Given the description of an element on the screen output the (x, y) to click on. 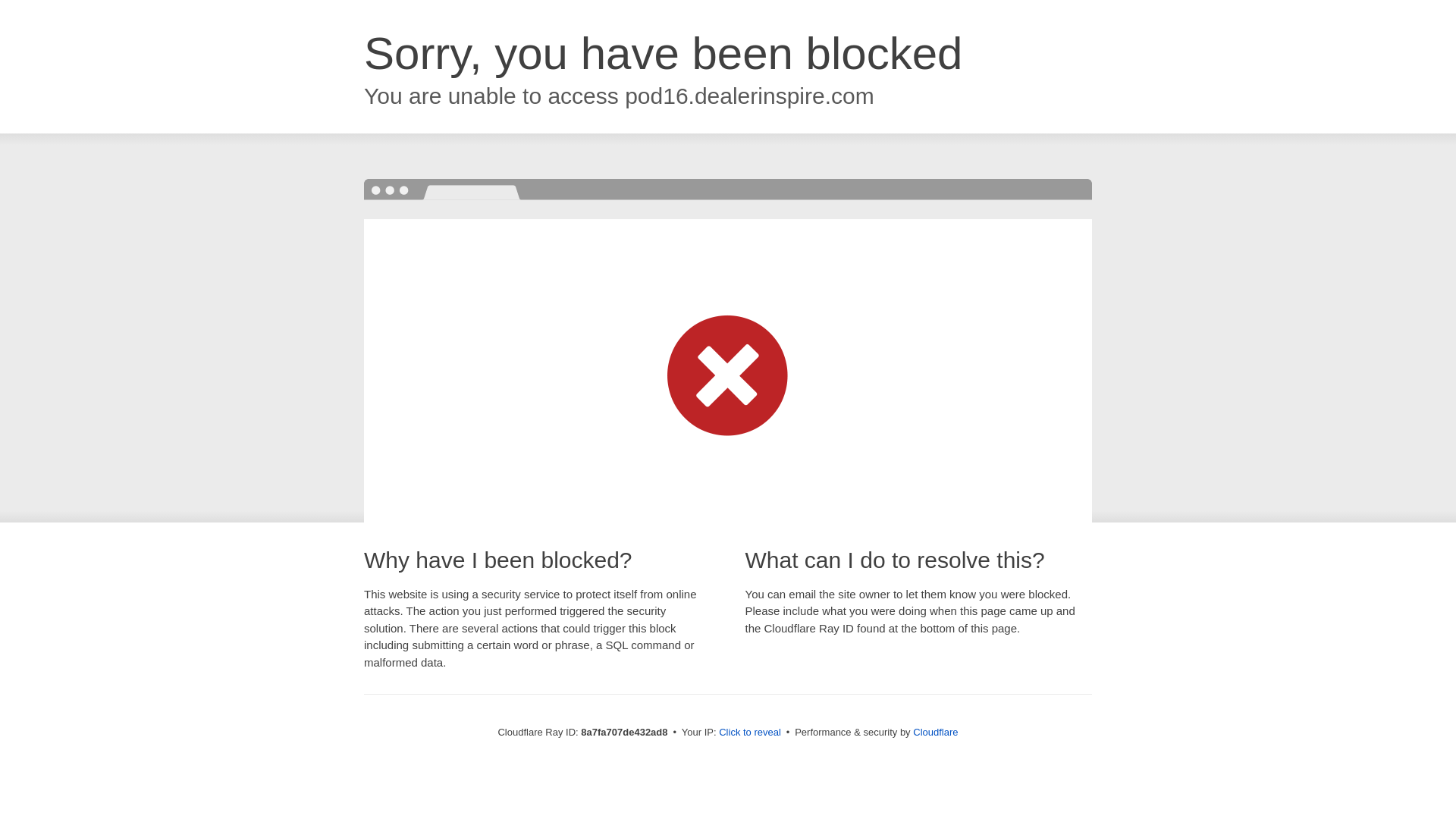
Click to reveal (749, 732)
Cloudflare (935, 731)
